Given the description of an element on the screen output the (x, y) to click on. 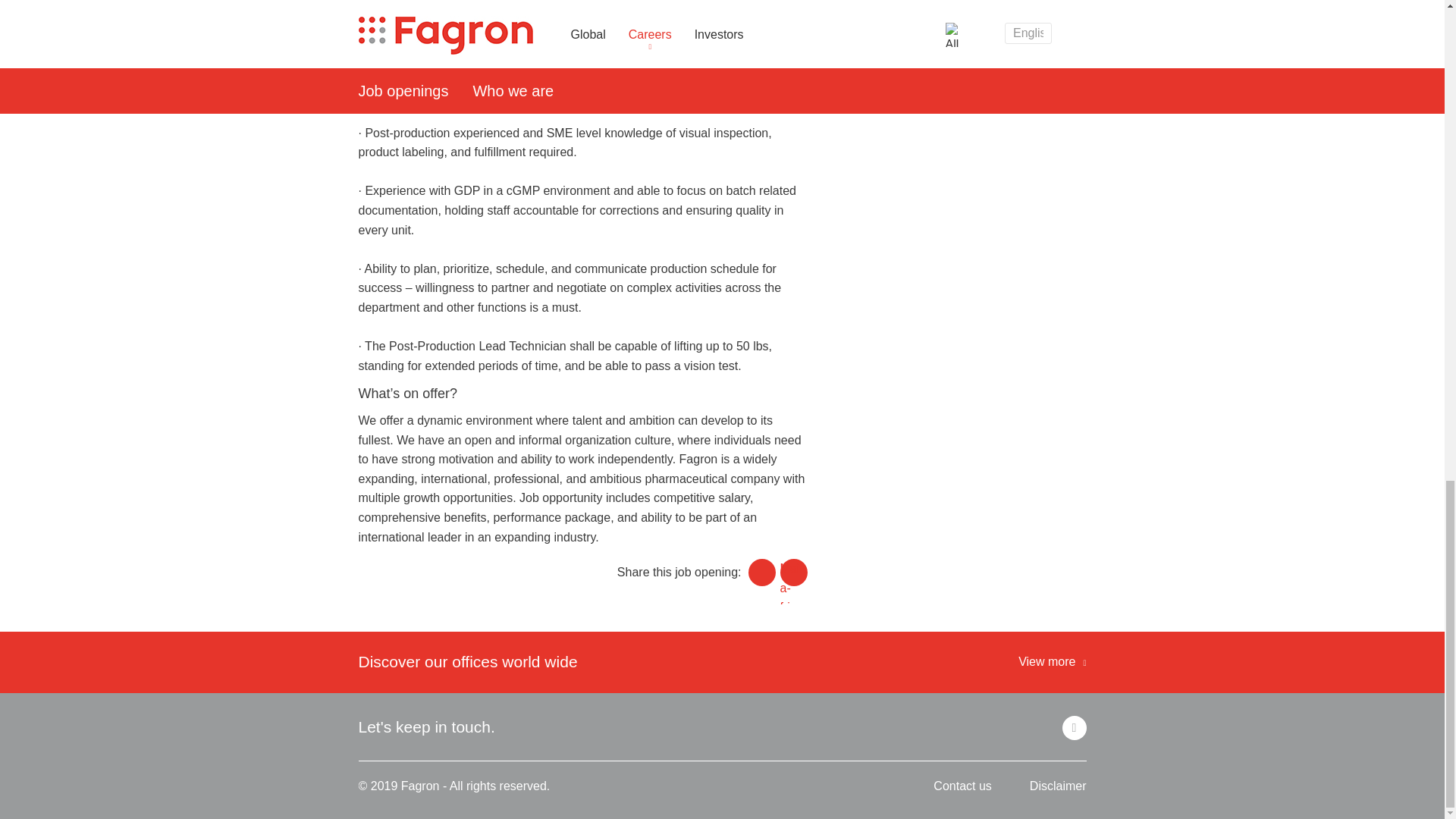
View more (1051, 661)
Contact us (962, 786)
Contact us (962, 786)
Disclaimer (1057, 786)
Mail-a-friend (792, 572)
Disclaimer (1057, 786)
View more (1051, 661)
LinkedIn (1073, 727)
Print this vacancy (761, 572)
